Given the description of an element on the screen output the (x, y) to click on. 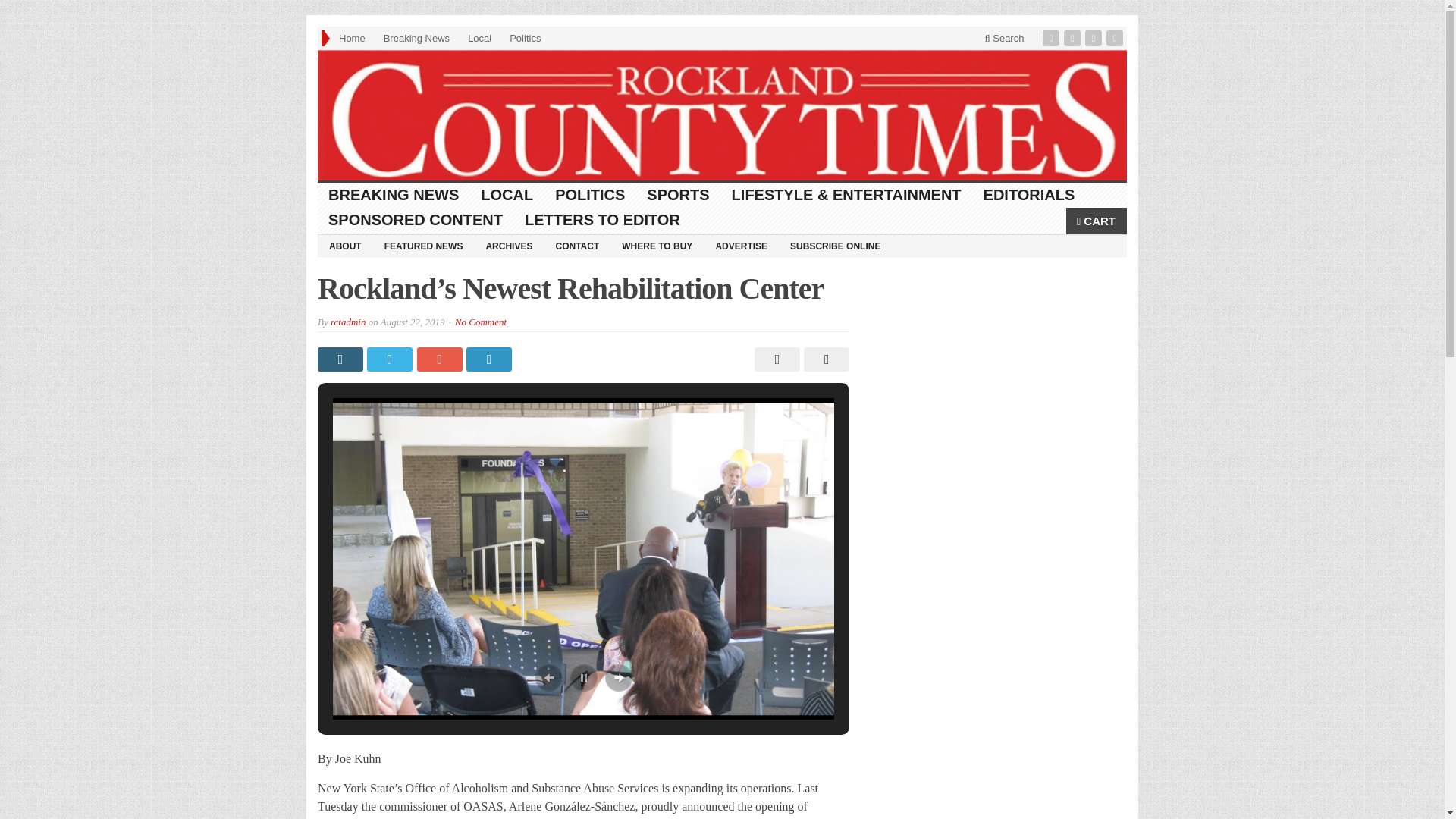
WHERE TO BUY (656, 245)
Politics (525, 37)
ADVERTISE (740, 245)
LETTERS TO EDITOR (602, 220)
SUBSCRIBE ONLINE (834, 245)
SPONSORED CONTENT (415, 220)
CONTACT (576, 245)
SPORTS (678, 195)
EDITORIALS (1029, 195)
Home (352, 37)
CART (1095, 221)
Local (479, 37)
LOCAL (507, 195)
ARCHIVES (508, 245)
